Given the description of an element on the screen output the (x, y) to click on. 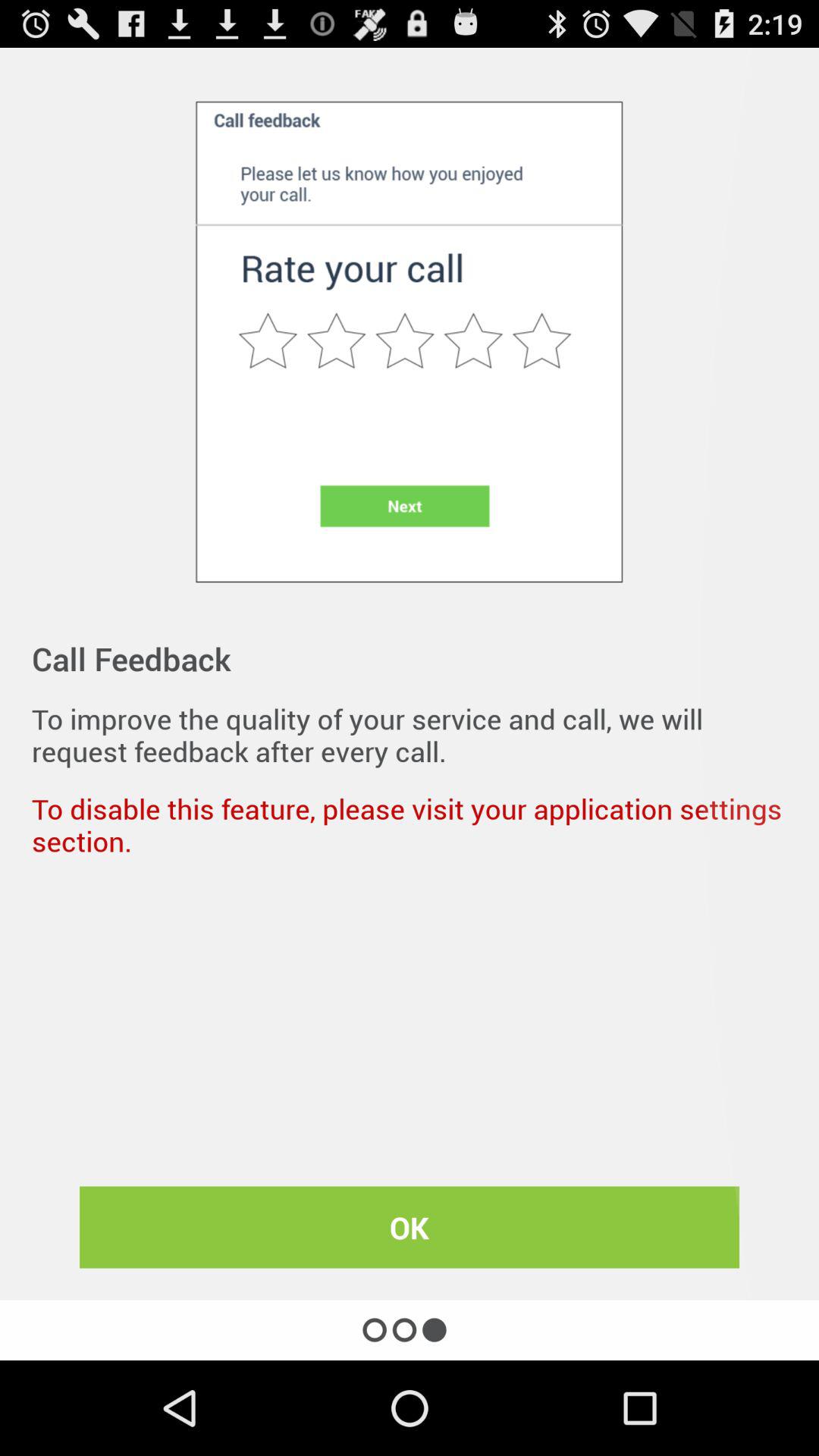
launch the icon below to disable this app (409, 1227)
